Given the description of an element on the screen output the (x, y) to click on. 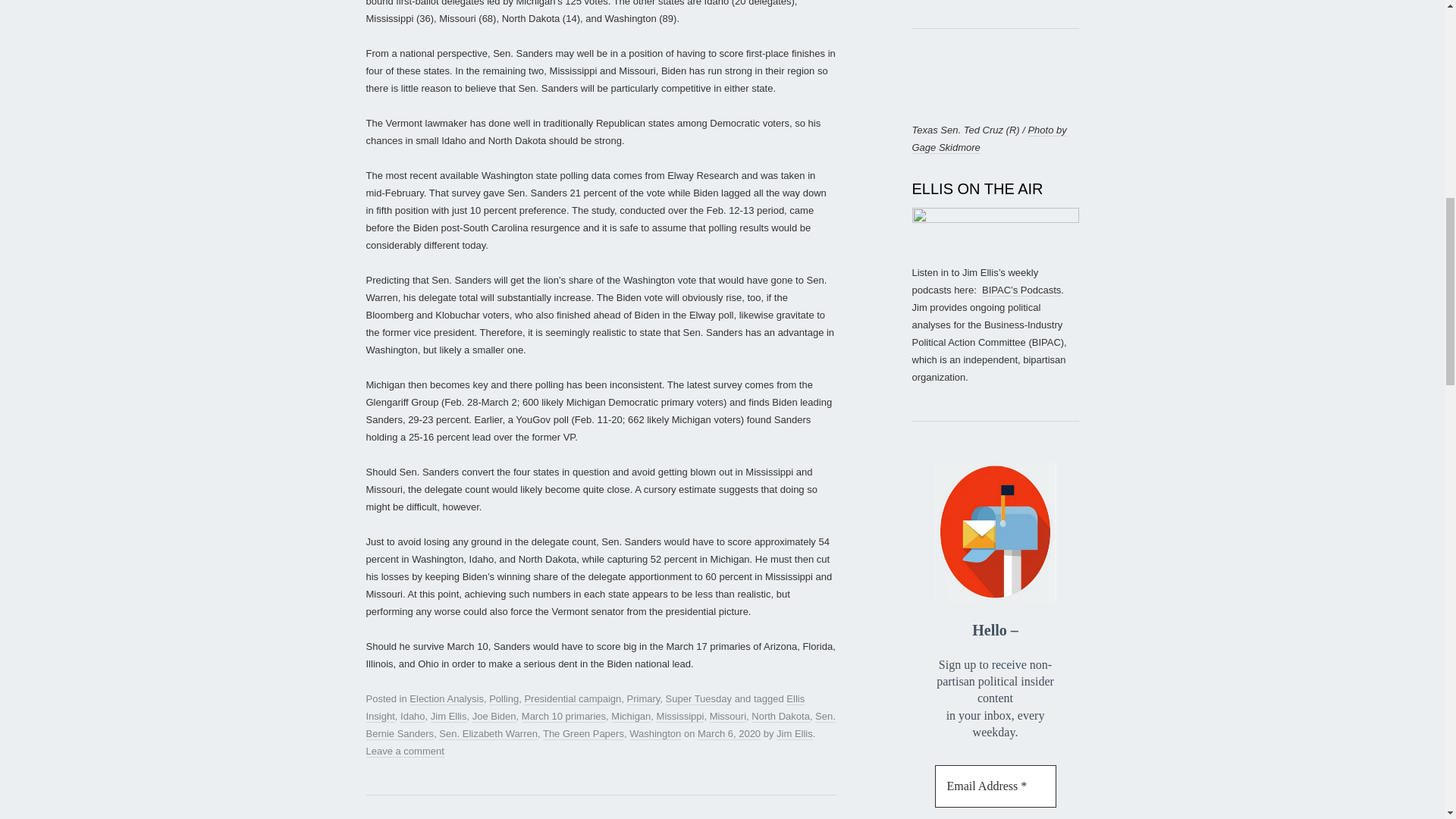
View all posts by Jim Ellis (794, 734)
Email Address (994, 785)
8:15 am (728, 734)
